Given the description of an element on the screen output the (x, y) to click on. 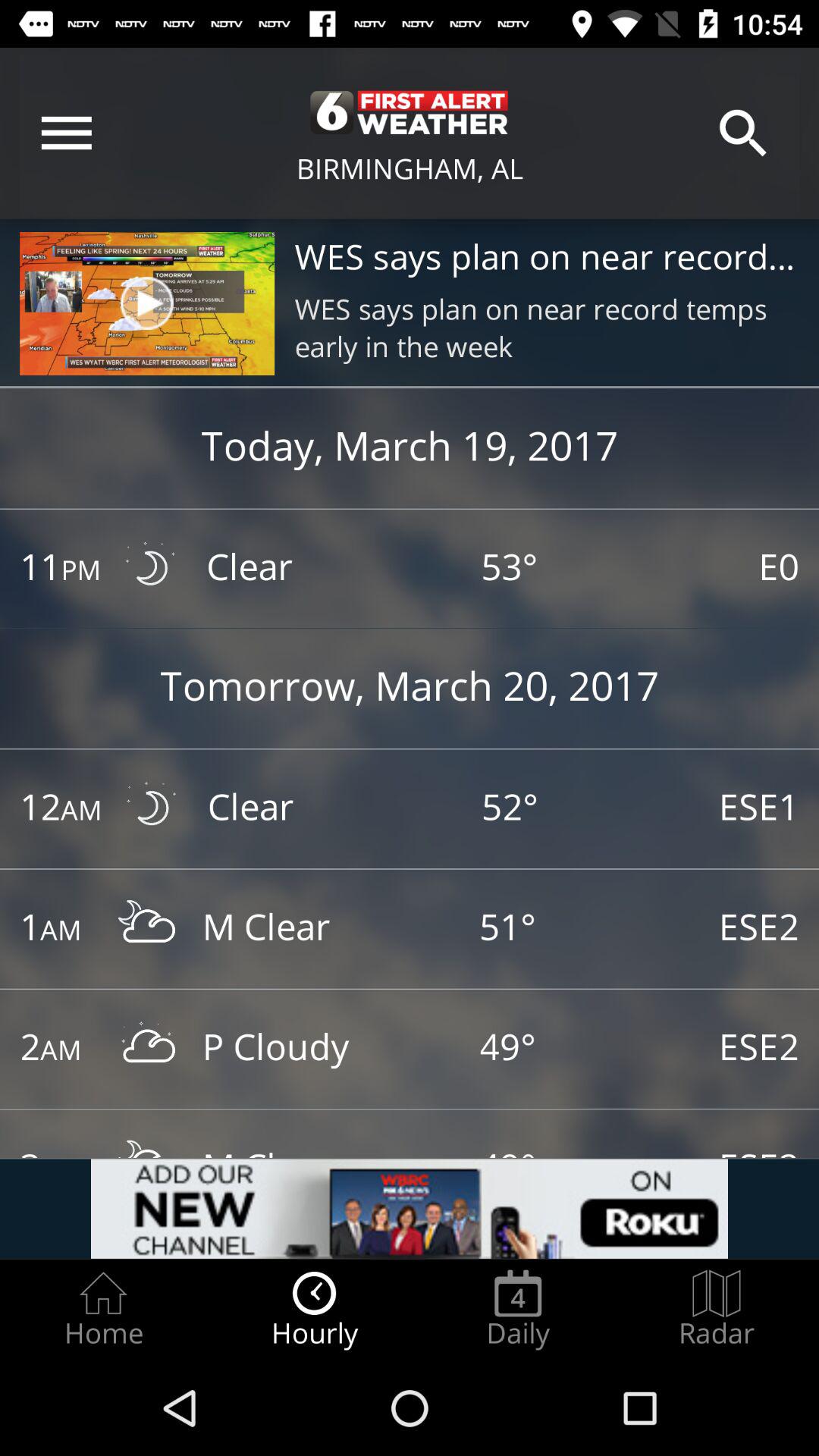
click item to the right of the daily (716, 1309)
